Given the description of an element on the screen output the (x, y) to click on. 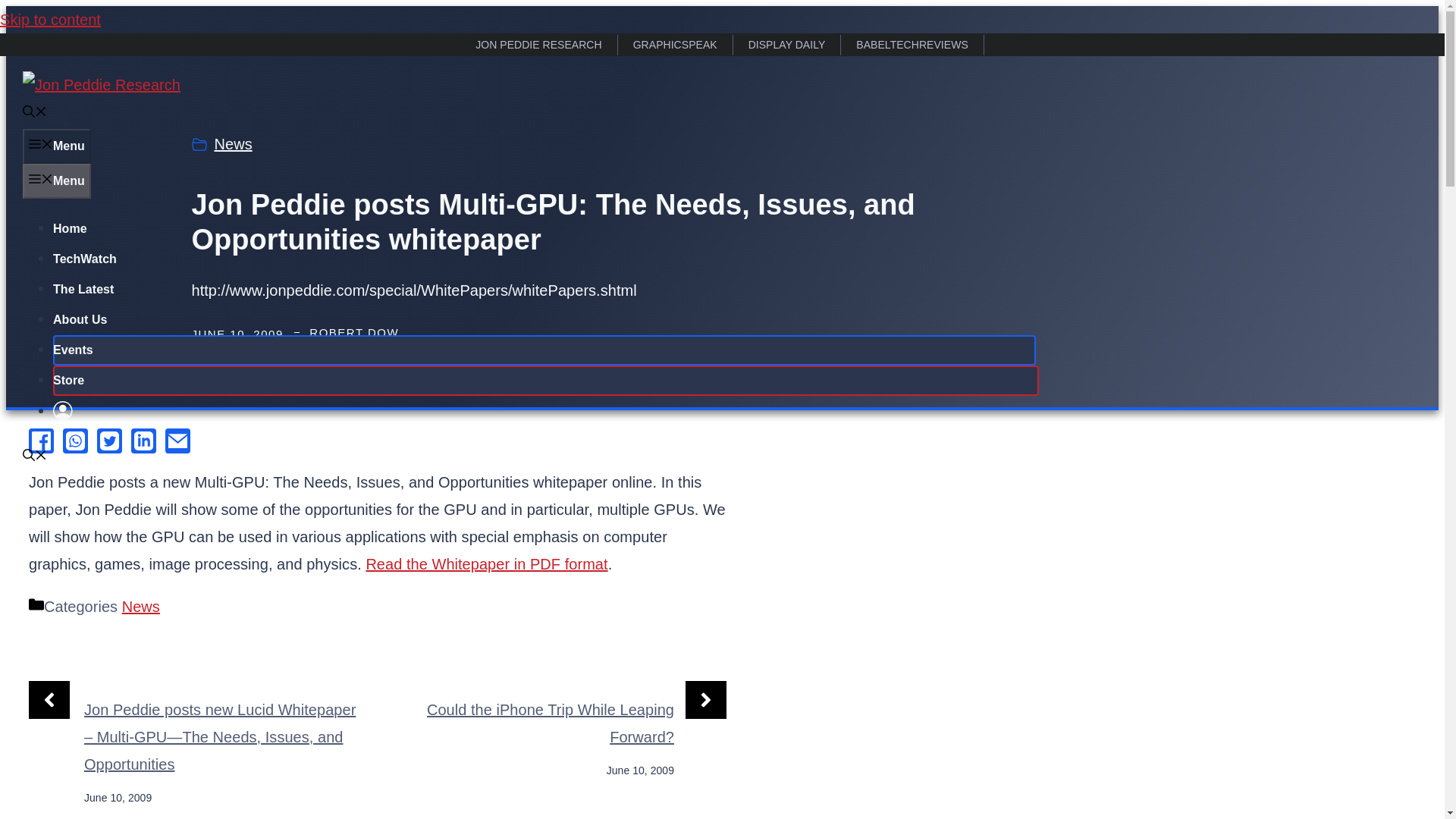
Skip to content (50, 19)
Events (72, 349)
DISPLAY DAILY (787, 45)
GRAPHICSPEAK (675, 45)
Home (69, 228)
The Latest (82, 288)
Read the Whitepaper in PDF format (486, 564)
News (232, 143)
Skip to content (50, 19)
Account (62, 410)
TechWatch (84, 258)
About Us (79, 318)
Could the iPhone Trip While Leaping Forward? (550, 723)
Menu (56, 145)
JON PEDDIE RESEARCH (538, 45)
